Given the description of an element on the screen output the (x, y) to click on. 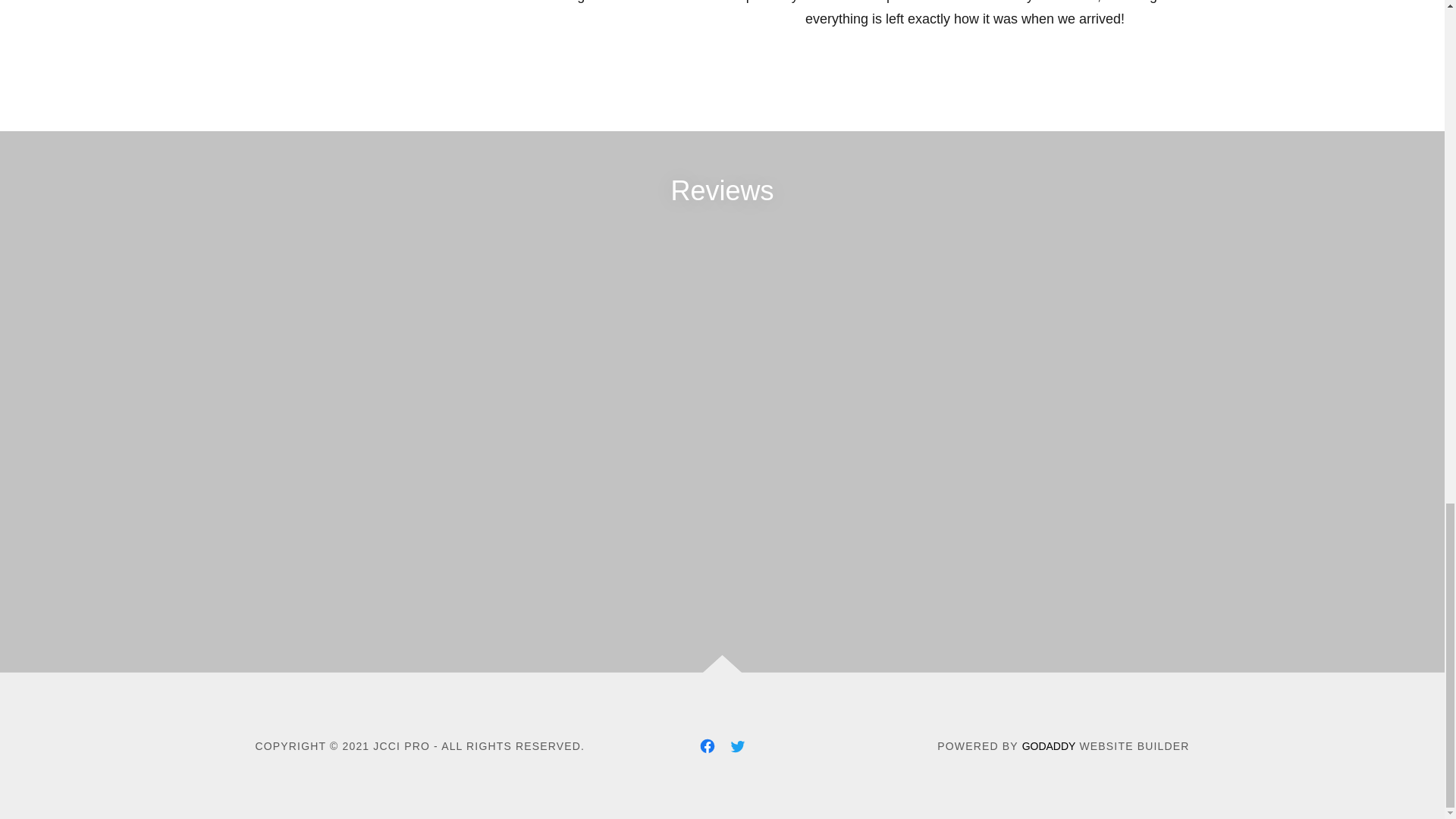
GODADDY (1048, 746)
